Given the description of an element on the screen output the (x, y) to click on. 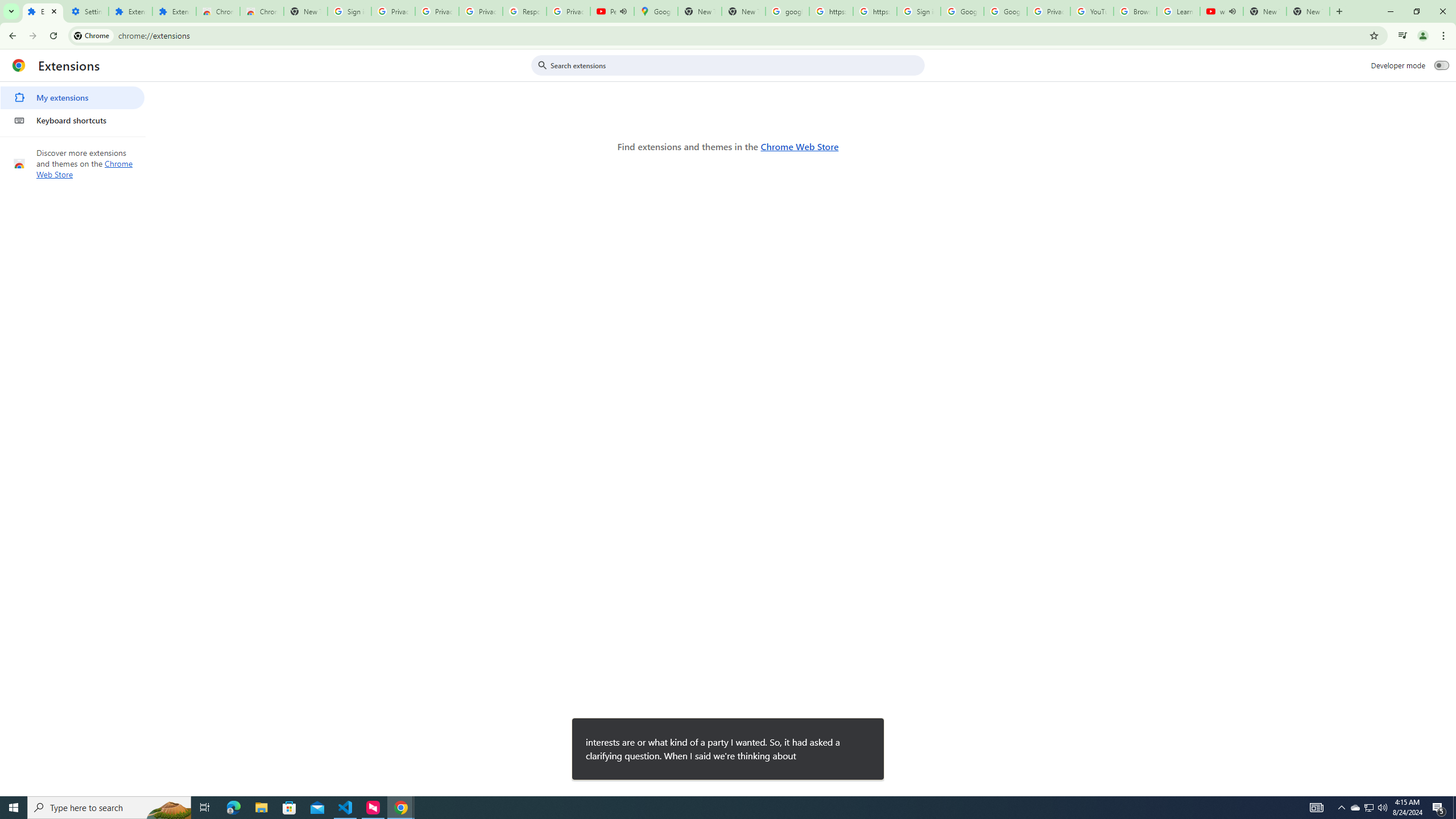
New Tab (305, 11)
Extensions (173, 11)
My extensions (72, 97)
Keyboard shortcuts (72, 119)
Mute tab (1232, 10)
Chrome Web Store (799, 146)
